Given the description of an element on the screen output the (x, y) to click on. 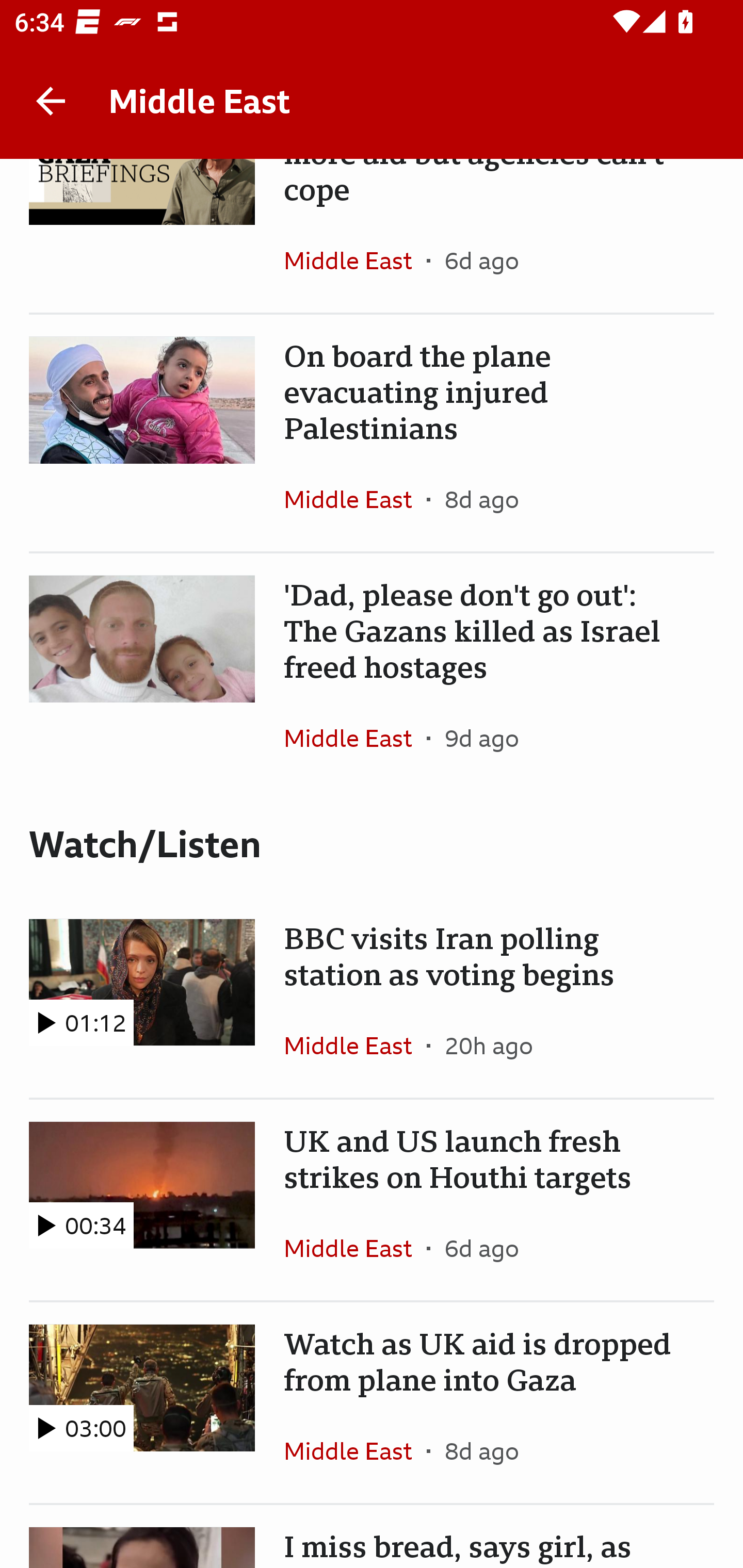
Back (50, 101)
Middle East In the section Middle East (354, 260)
Middle East In the section Middle East (354, 498)
Middle East In the section Middle East (354, 738)
Middle East In the section Middle East (354, 1045)
Middle East In the section Middle East (354, 1247)
Middle East In the section Middle East (354, 1450)
